Given the description of an element on the screen output the (x, y) to click on. 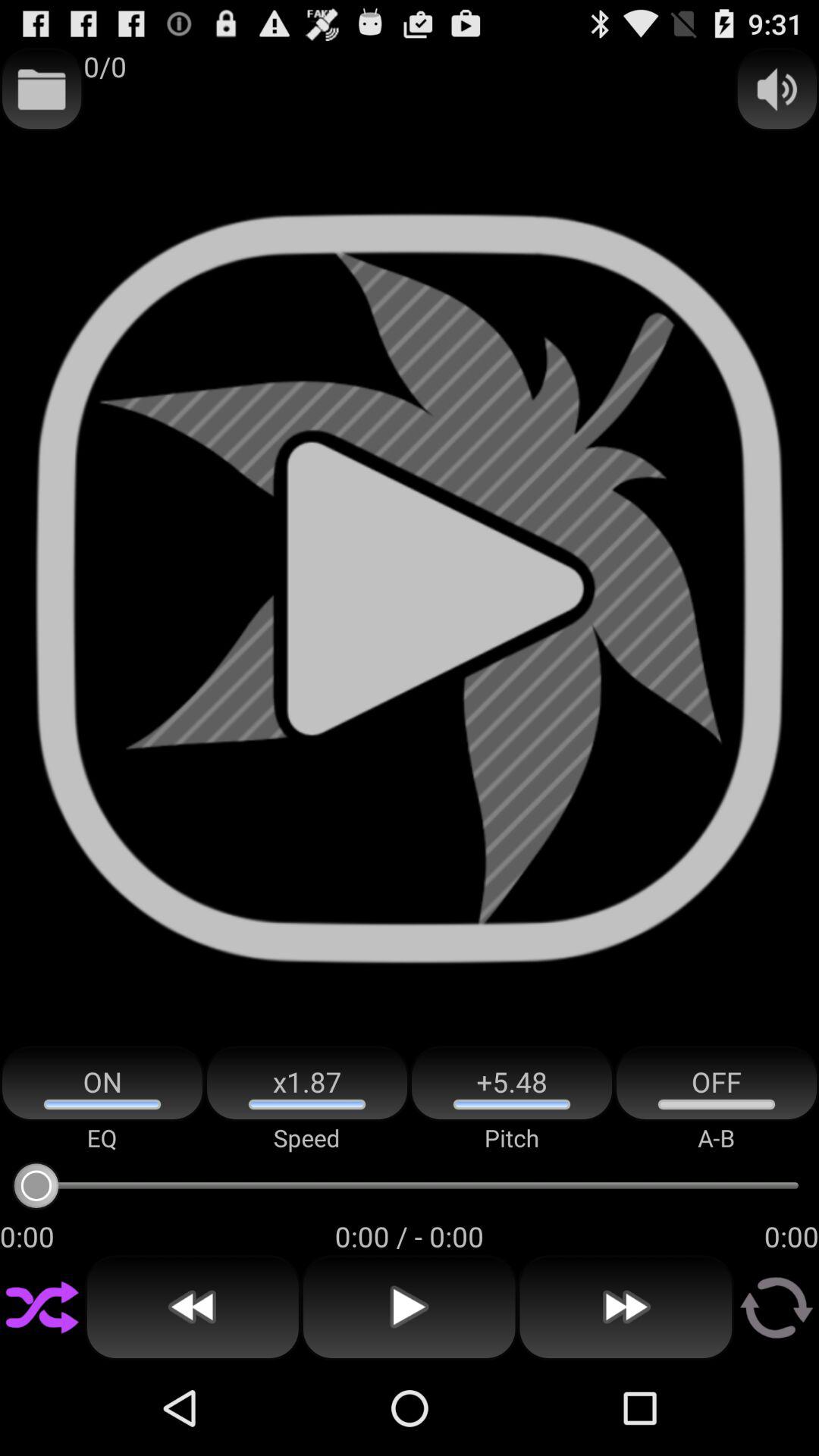
choose the item below the 0 00 0 icon (192, 1307)
